Given the description of an element on the screen output the (x, y) to click on. 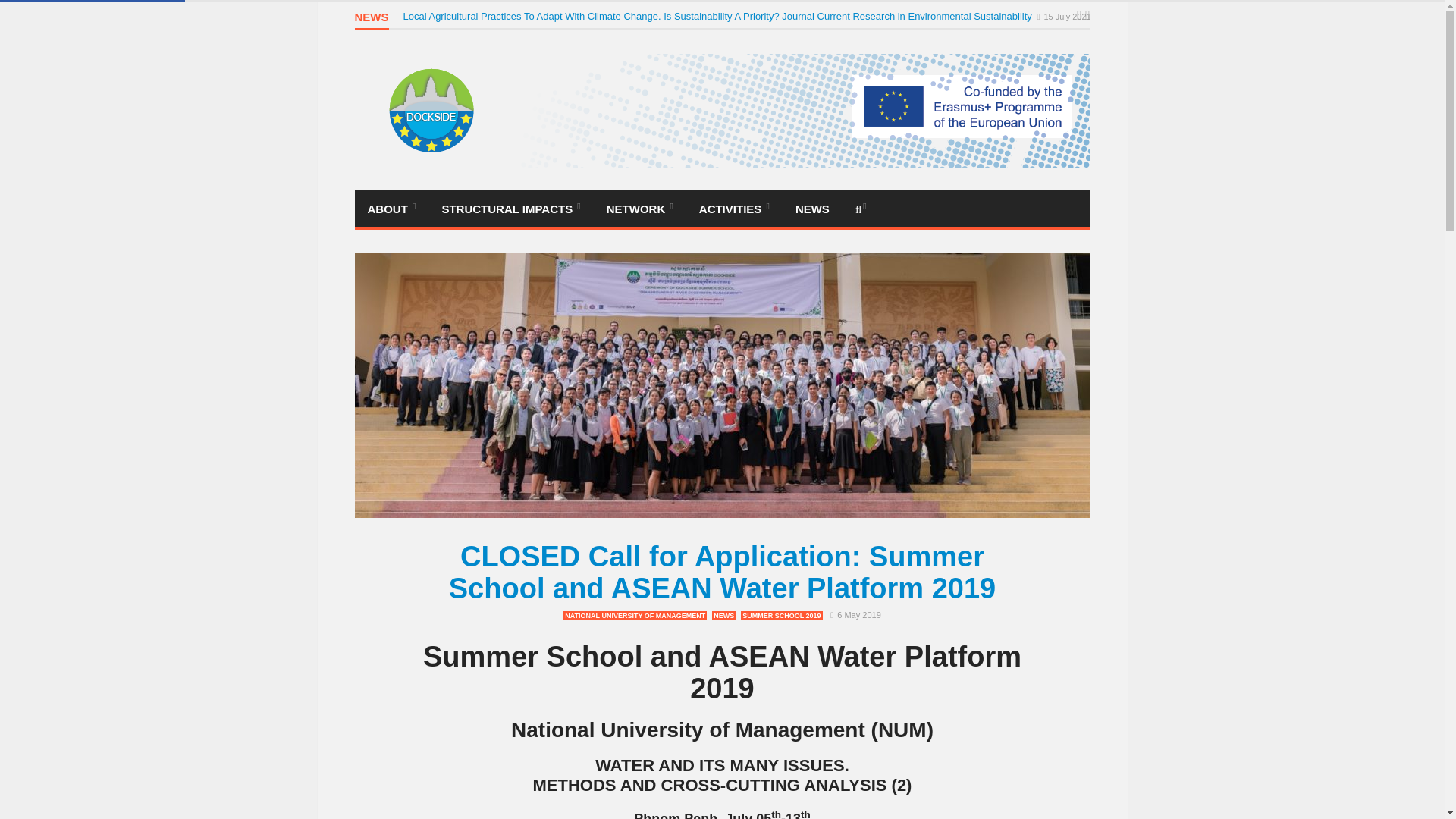
NEWS (371, 20)
Activities (734, 208)
Structural Impacts (510, 208)
About (392, 208)
Network (639, 208)
